Given the description of an element on the screen output the (x, y) to click on. 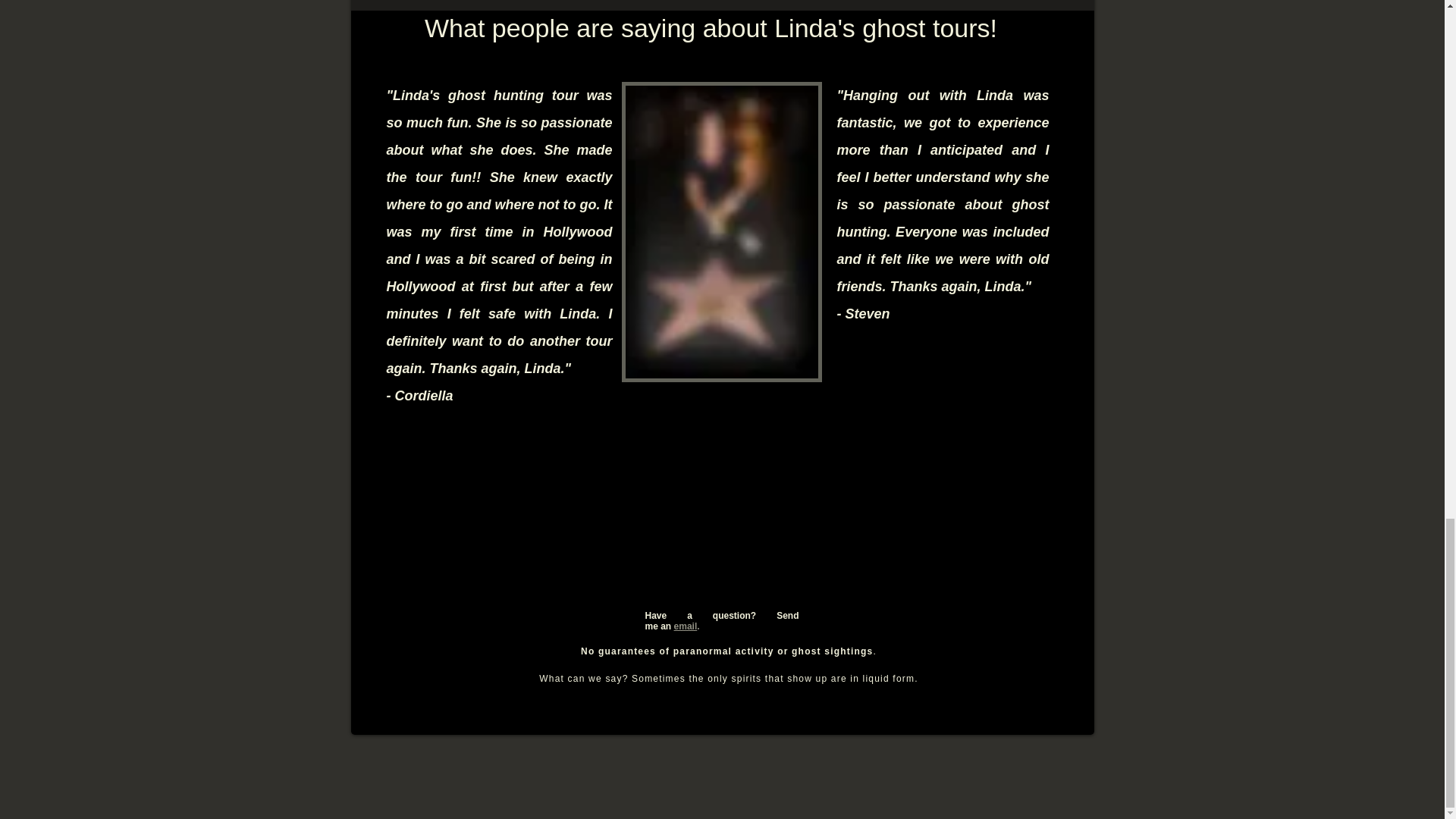
email (685, 625)
